Given the description of an element on the screen output the (x, y) to click on. 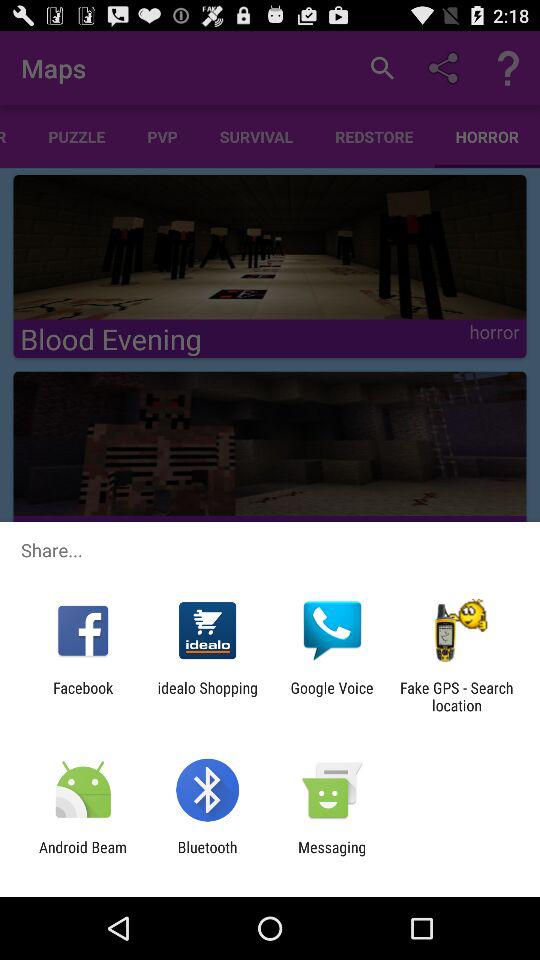
click app to the right of android beam icon (207, 856)
